Given the description of an element on the screen output the (x, y) to click on. 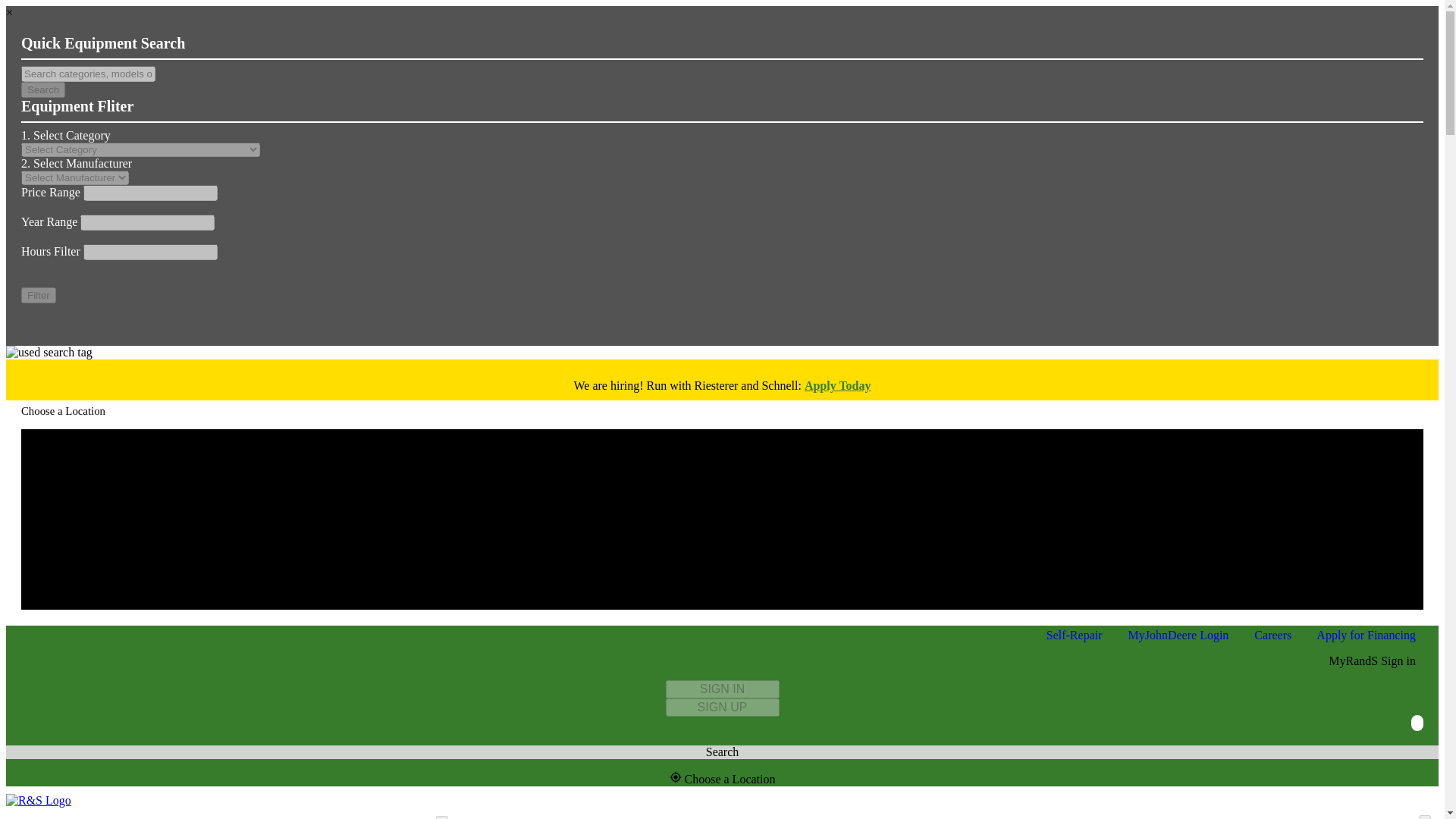
SIGN IN (721, 689)
Apply Today (837, 385)
Careers (1272, 634)
MyJohnDeere Login (1178, 634)
Filter (38, 295)
Search (43, 89)
Apply for Financing (1365, 634)
SIGN UP (721, 707)
SIGN UP (721, 707)
SIGN IN (721, 688)
Self-Repair (1074, 634)
